Given the description of an element on the screen output the (x, y) to click on. 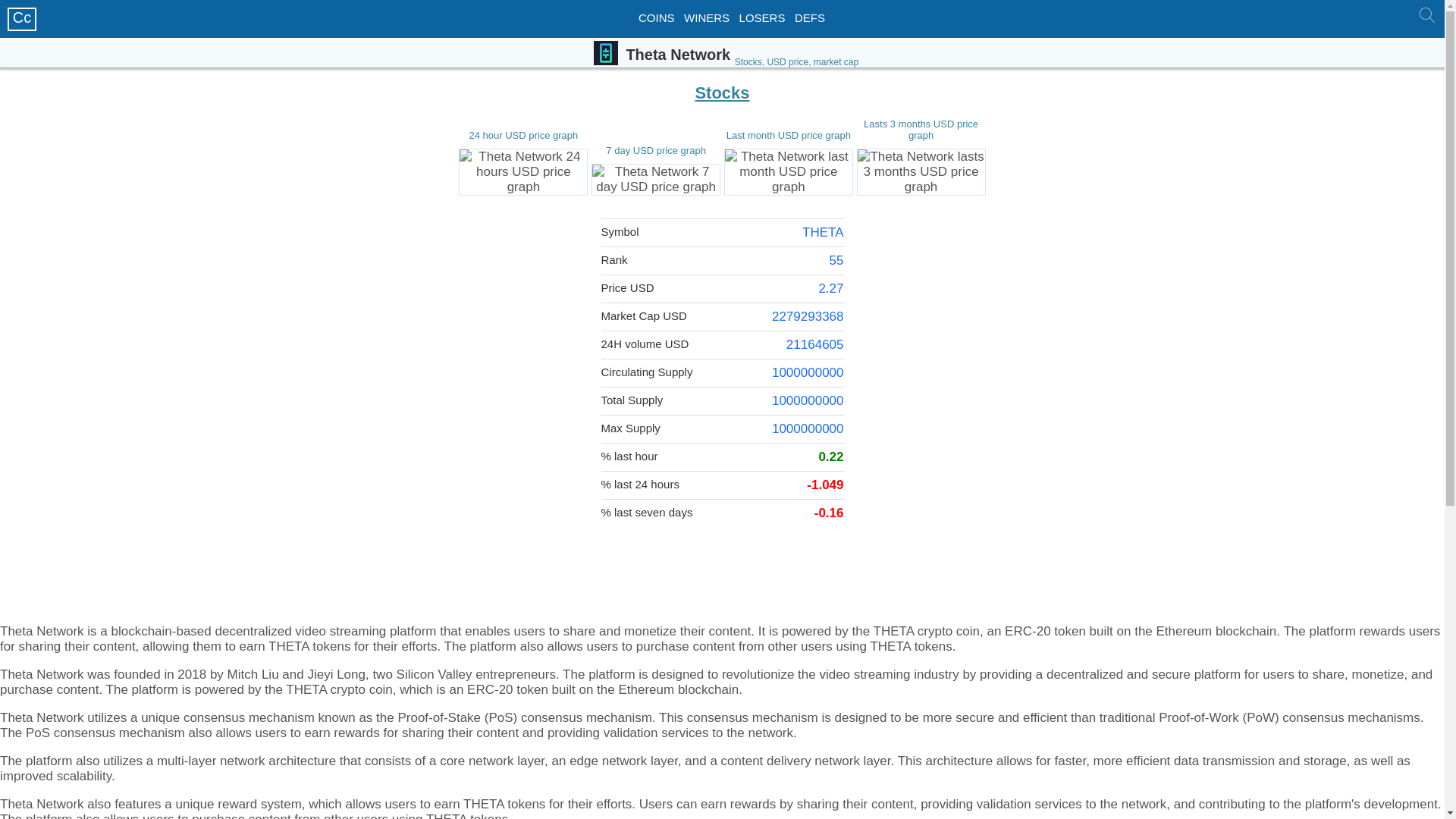
WINERS (706, 17)
currencies (657, 17)
LOSERS (762, 17)
winners (762, 17)
currencies concepts (809, 17)
COINS (657, 17)
Home (21, 17)
winners (706, 17)
Cc (21, 17)
DEFS (809, 17)
